Given the description of an element on the screen output the (x, y) to click on. 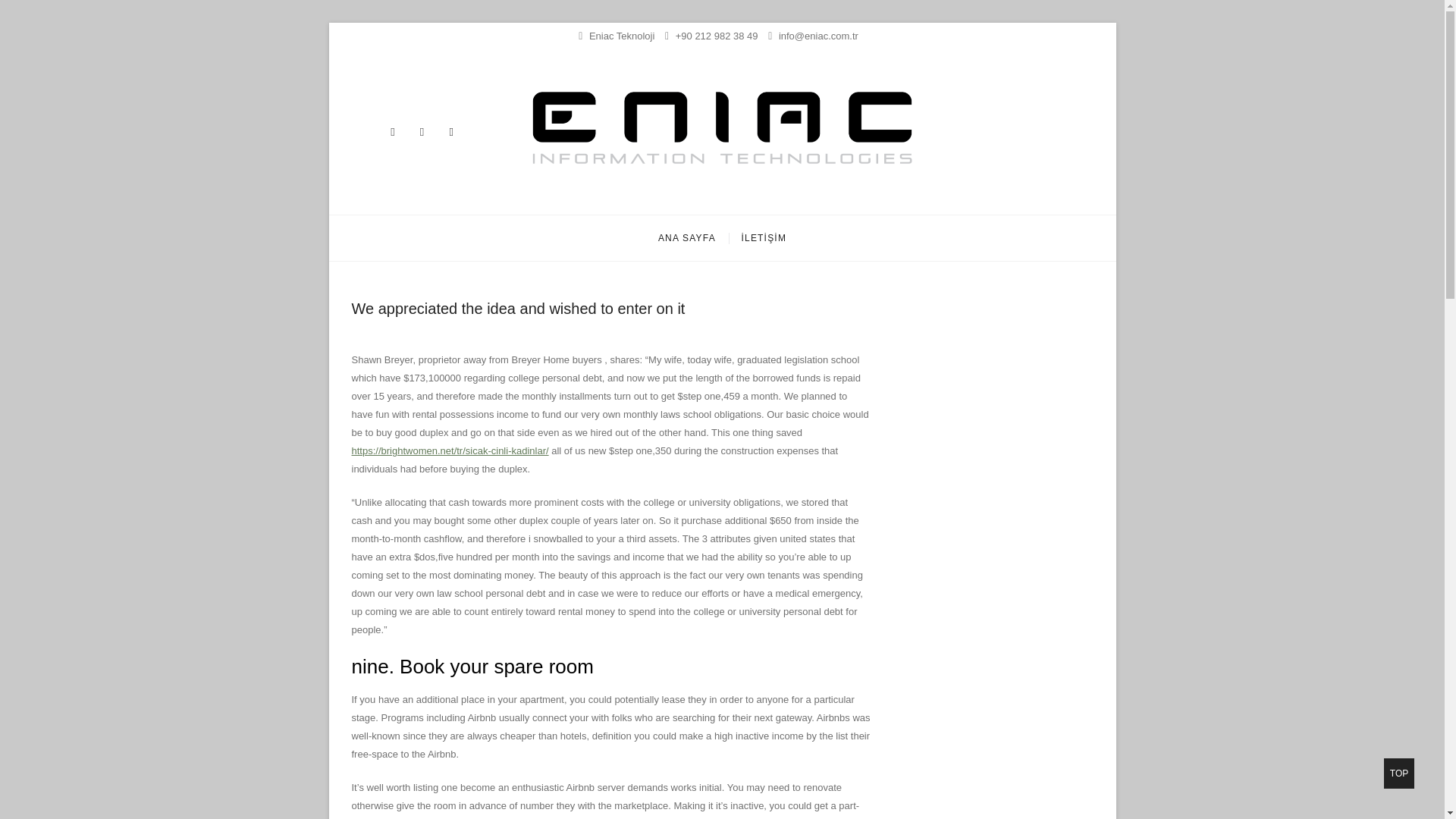
facebook (451, 130)
linkedin (392, 130)
We appreciated the idea and wished to enter on it (518, 308)
Eniac Teknoloji (589, 194)
Eniac Teknoloji (589, 194)
We appreciated the idea and wished to enter on it (518, 308)
Adresimiz (615, 35)
ANA SAYFA (686, 238)
instagram (422, 130)
